Given the description of an element on the screen output the (x, y) to click on. 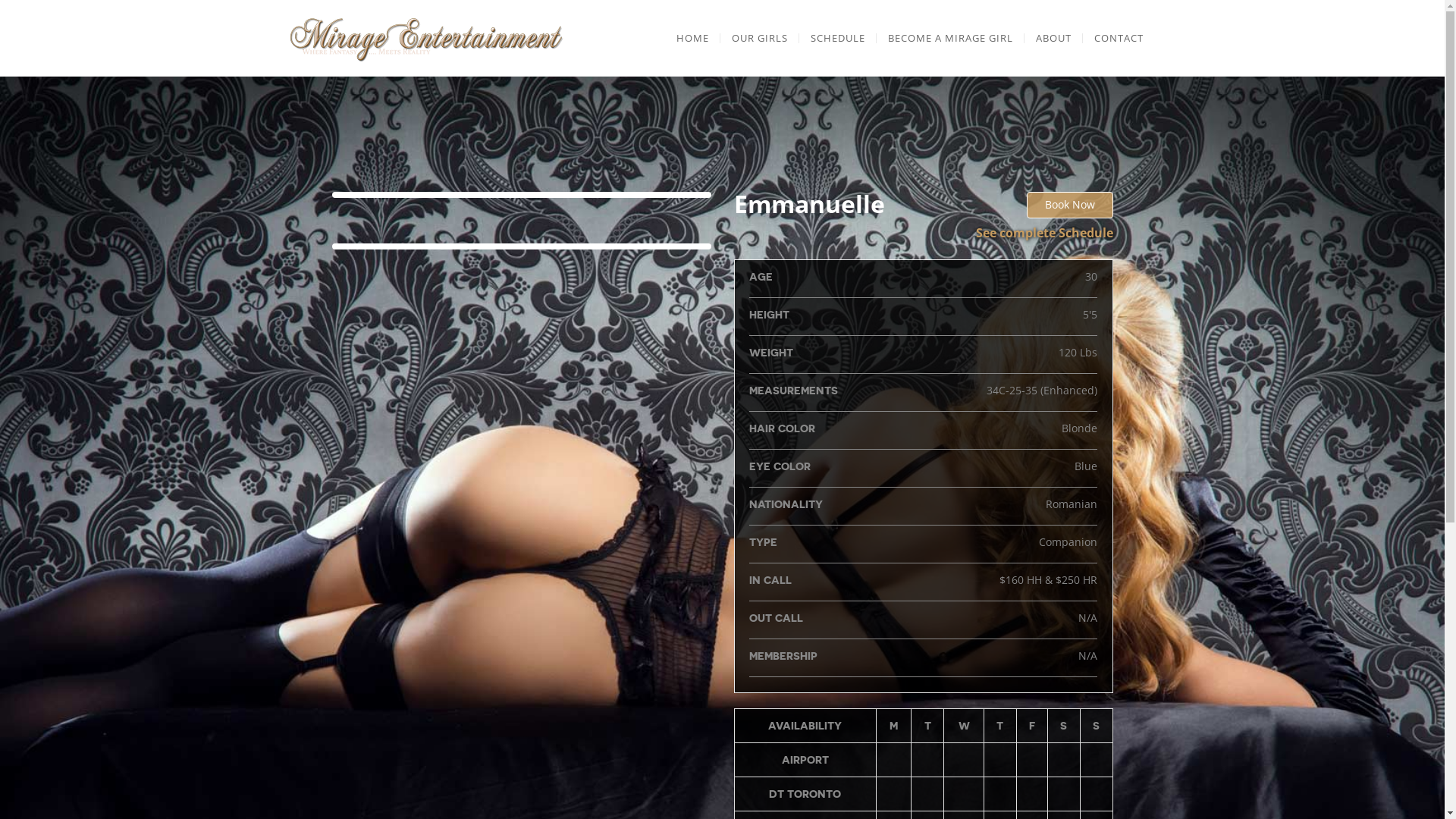
ABOUT Element type: text (1052, 37)
HOME Element type: text (691, 37)
See complete Schedule Element type: text (1043, 232)
SCHEDULE Element type: text (837, 37)
BECOME A MIRAGE GIRL Element type: text (950, 37)
Book Now Element type: text (1069, 204)
CONTACT Element type: text (1118, 37)
OUR GIRLS Element type: text (759, 37)
